Given the description of an element on the screen output the (x, y) to click on. 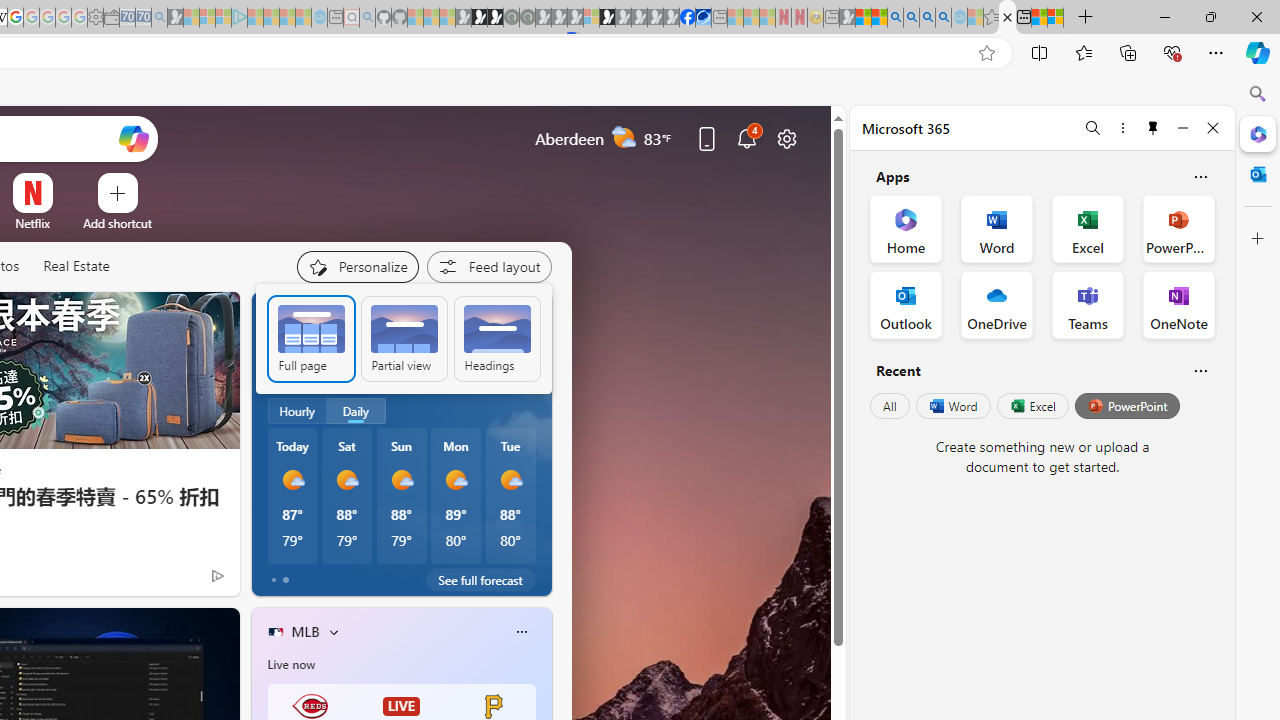
All (890, 406)
Play Zoo Boom in your browser | Games from Microsoft Start (479, 17)
Ad Choice (217, 575)
Headings (497, 338)
Teams Office App (1087, 304)
